Given the description of an element on the screen output the (x, y) to click on. 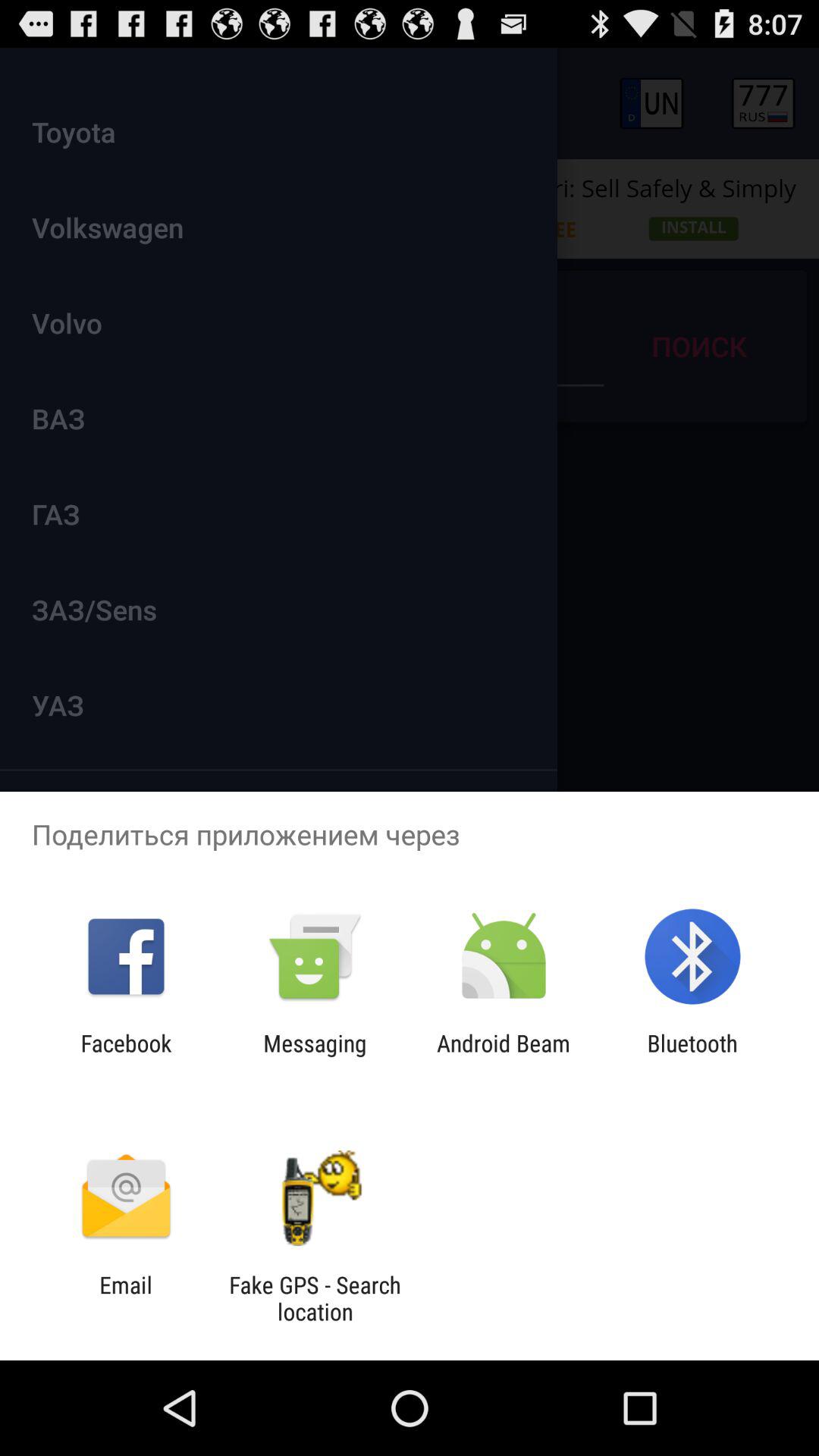
scroll to email item (125, 1298)
